Given the description of an element on the screen output the (x, y) to click on. 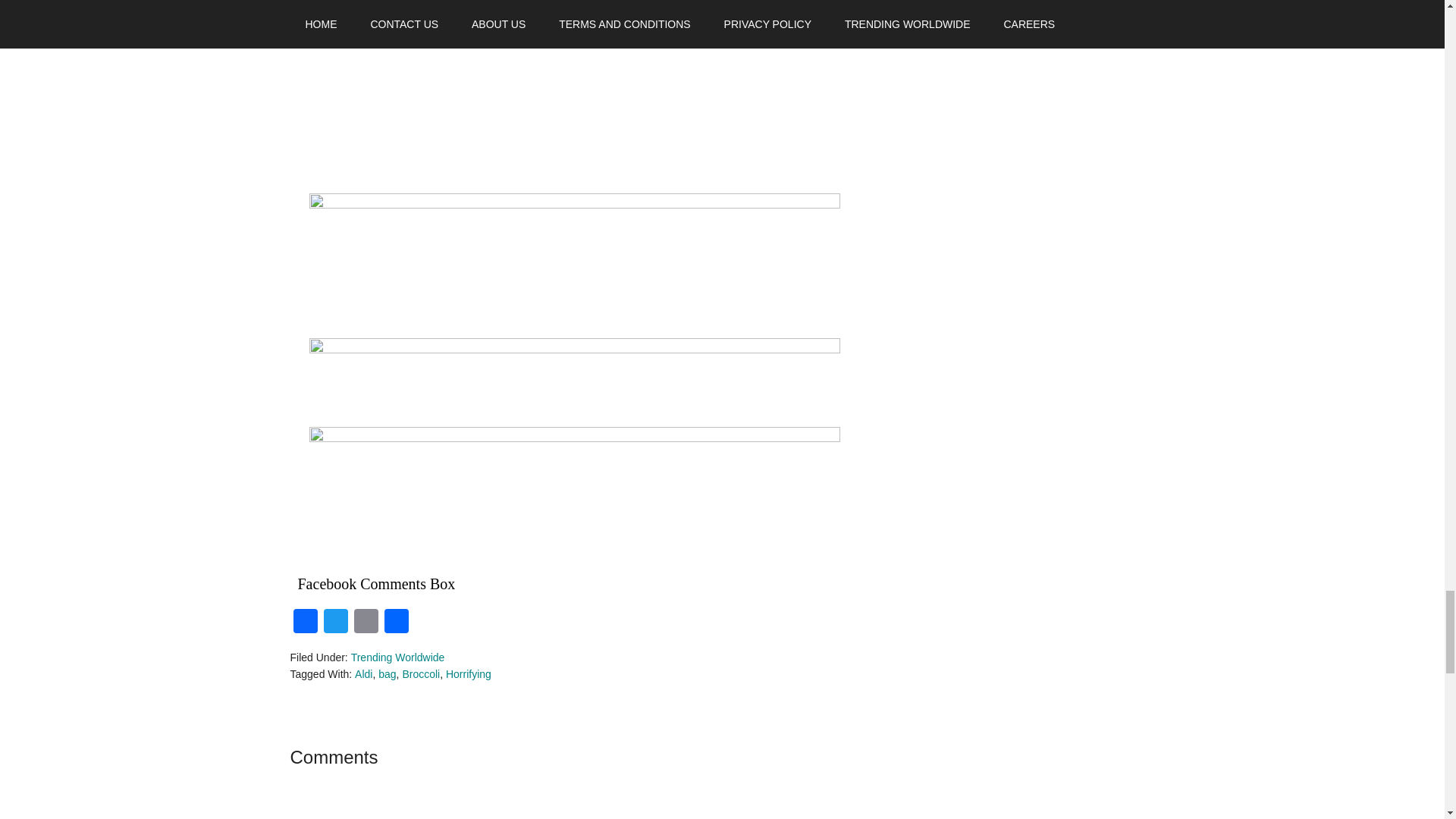
bag (387, 674)
Share (395, 623)
Twitter (335, 623)
Broccoli (420, 674)
Trending Worldwide (397, 657)
Facebook (304, 623)
Email (365, 623)
Twitter (335, 623)
Facebook (304, 623)
Email (365, 623)
Aldi (363, 674)
Horrifying (468, 674)
